Given the description of an element on the screen output the (x, y) to click on. 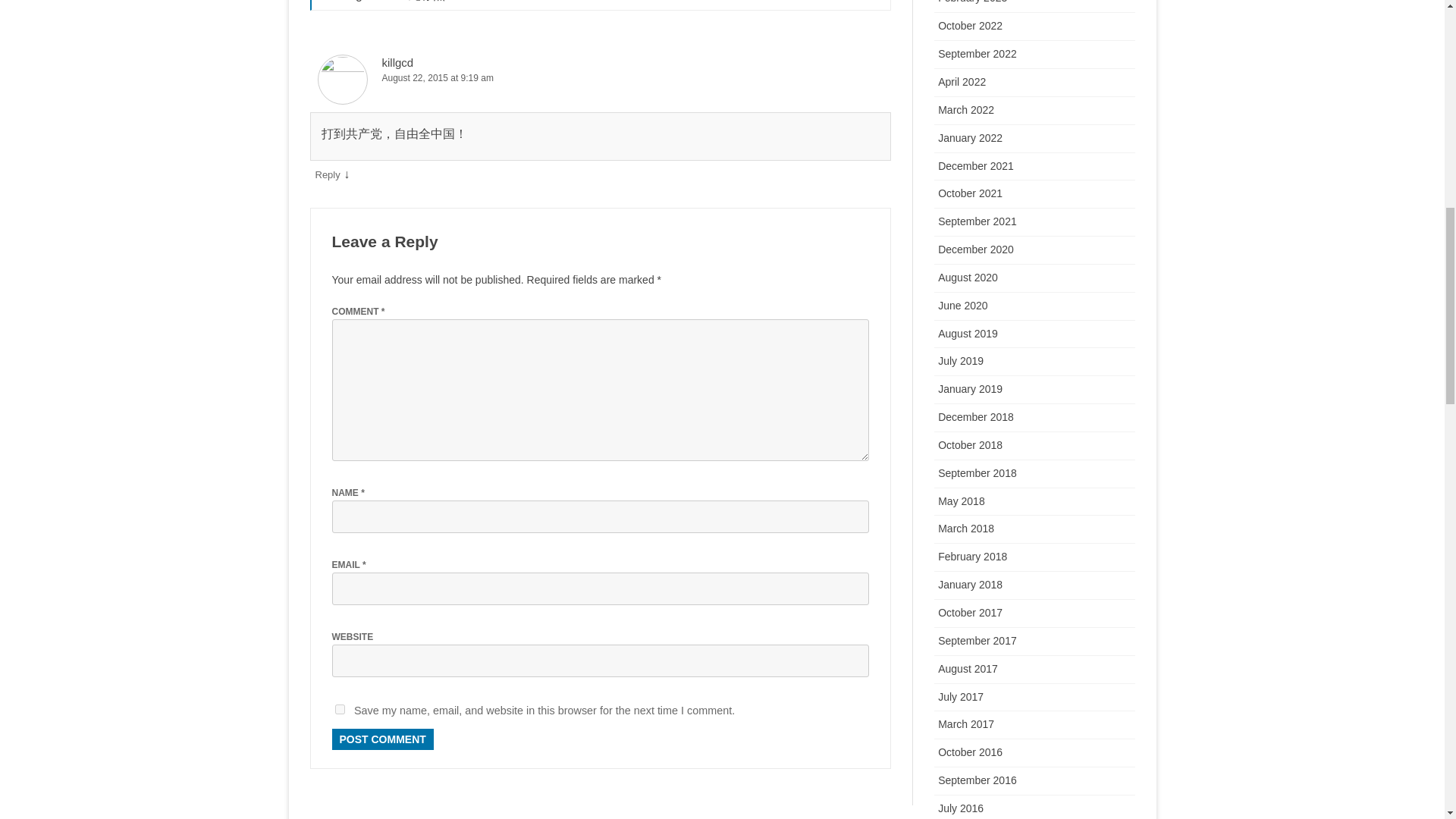
Post Comment (382, 739)
yes (339, 709)
